Given the description of an element on the screen output the (x, y) to click on. 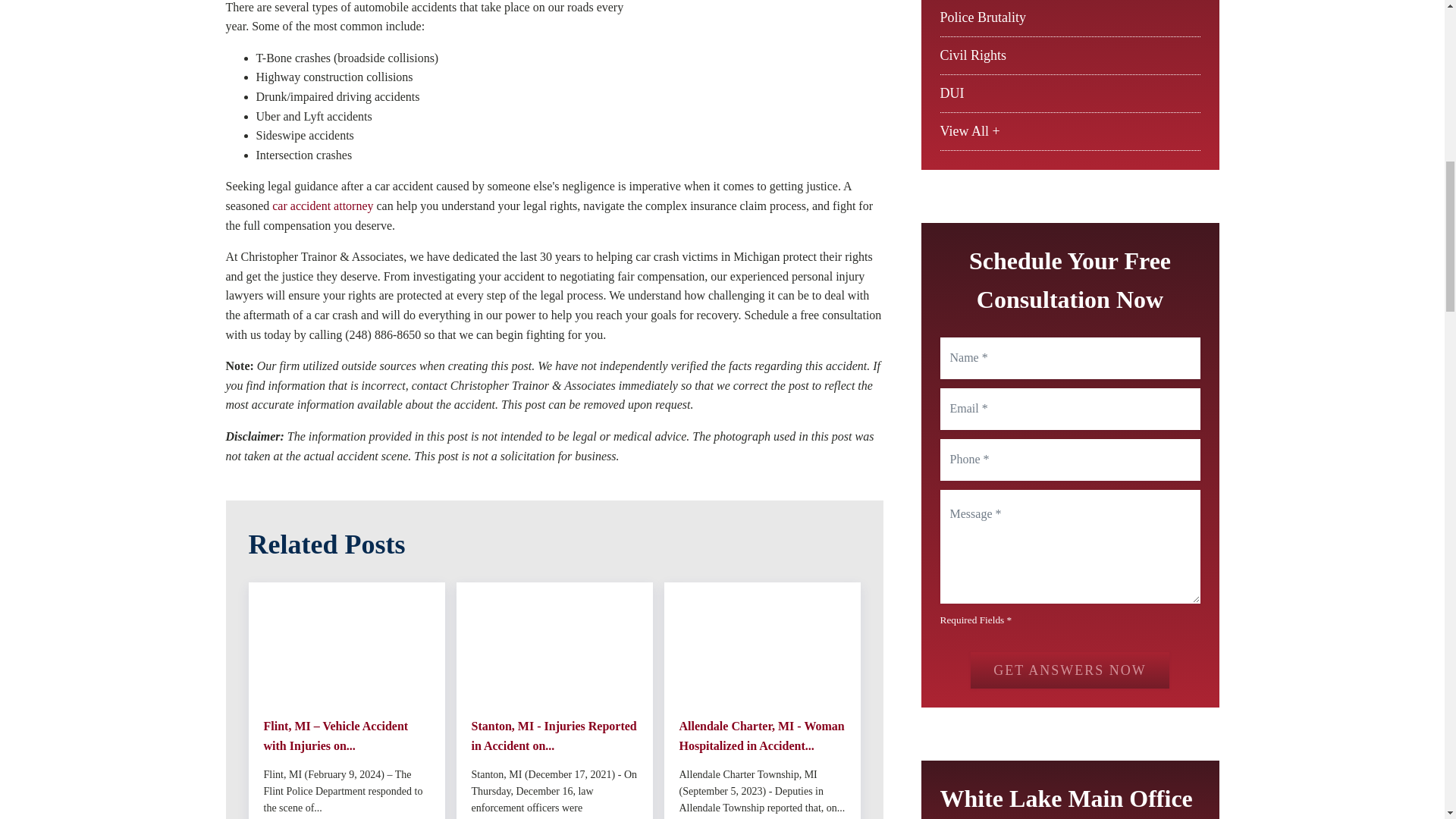
Allendale Charter, MI - Woman Hospitalized in Accident... (762, 735)
Get Answers Now (1070, 669)
car accident attorney (322, 205)
DUI (951, 92)
Get Answers Now (1070, 669)
Police Brutality (983, 17)
Stanton, MI - Injuries Reported in Accident on... (554, 735)
Civil Rights (973, 55)
